Given the description of an element on the screen output the (x, y) to click on. 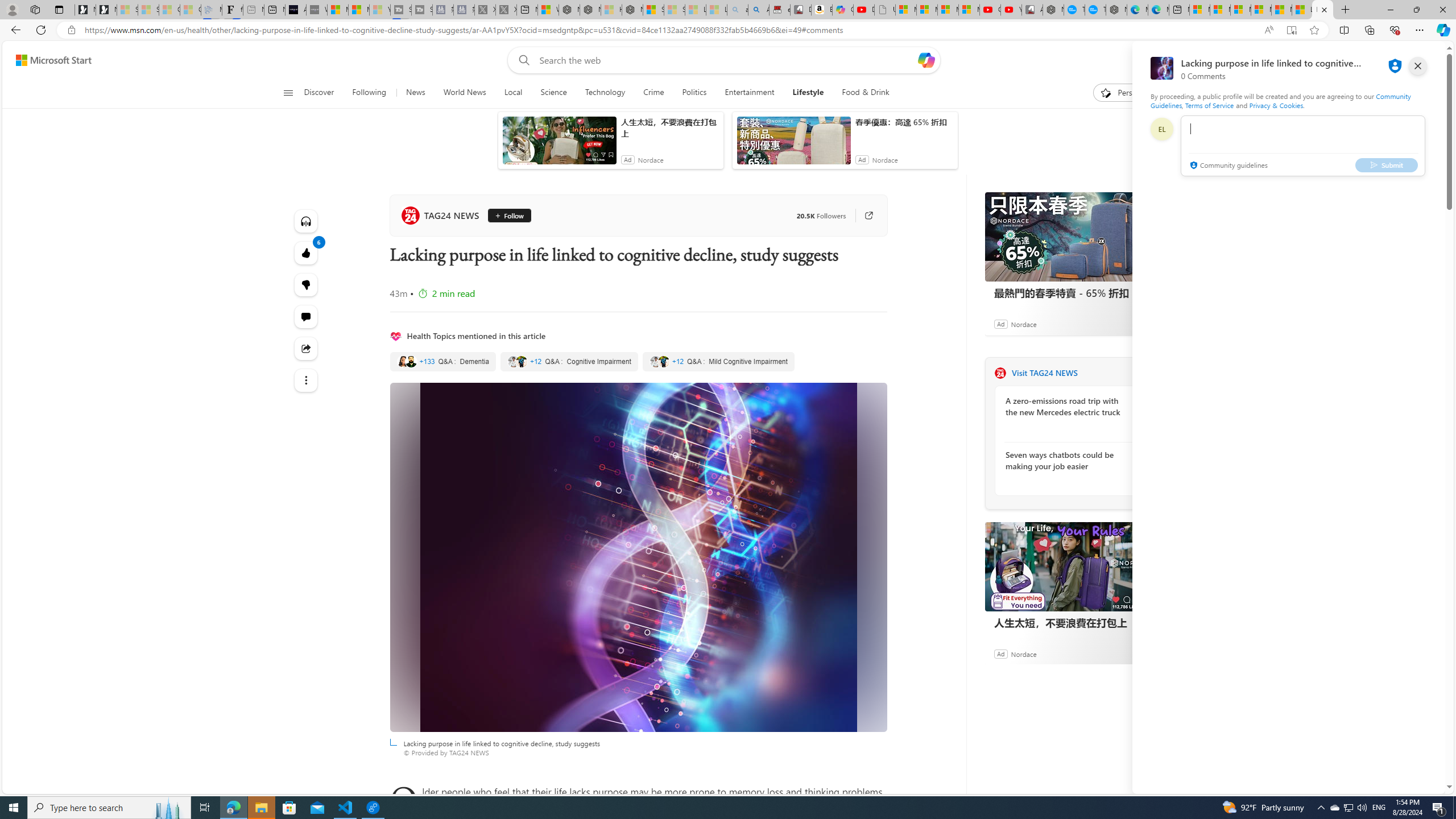
Politics (694, 92)
Microsoft rewards (1374, 60)
Science (553, 92)
